Given the description of an element on the screen output the (x, y) to click on. 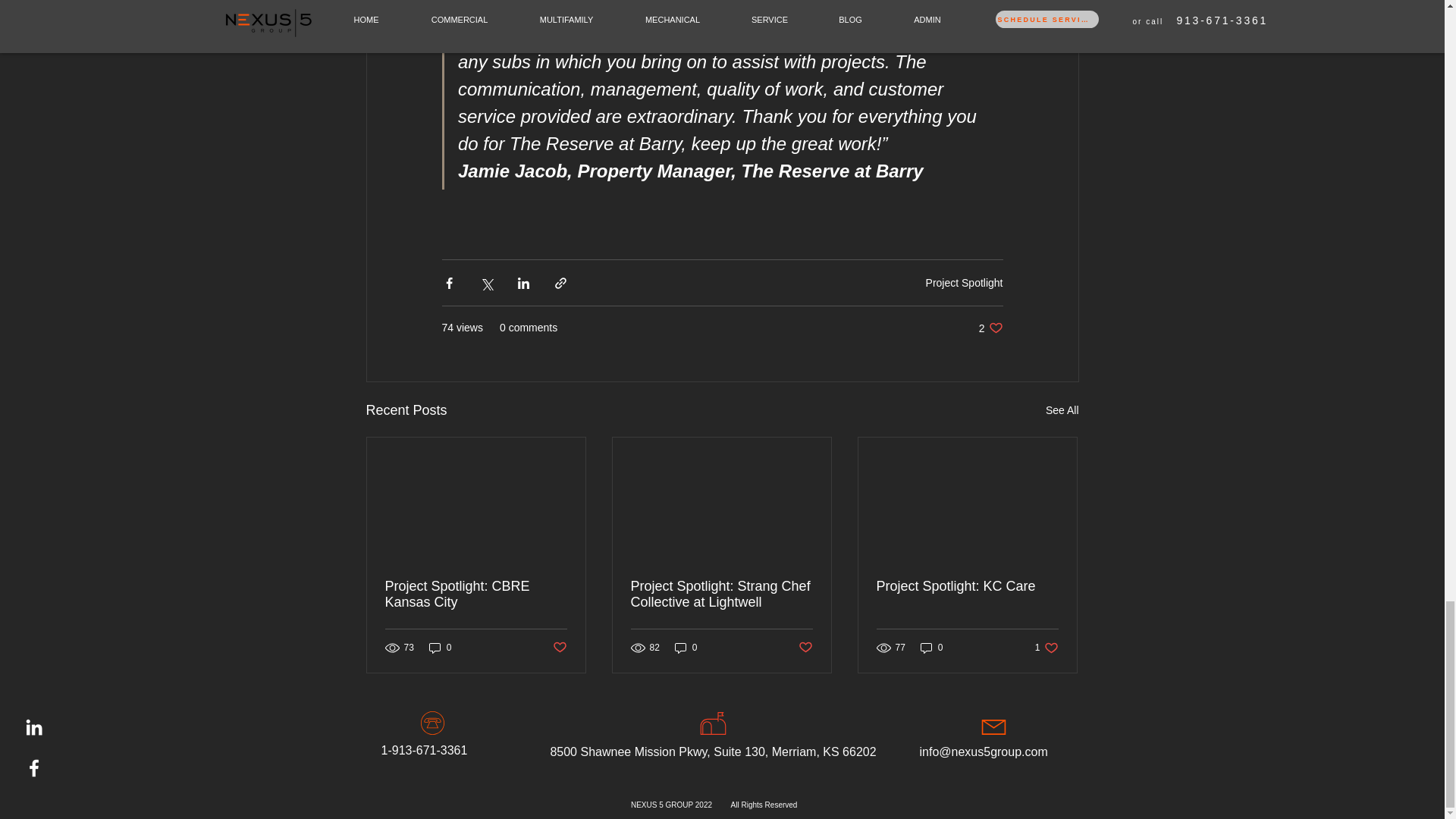
Project Spotlight (964, 282)
0 (440, 647)
See All (1061, 410)
Project Spotlight: Strang Chef Collective at Lightwell (721, 594)
0 (685, 647)
Post not marked as liked (990, 327)
Project Spotlight: CBRE Kansas City (558, 647)
